Given the description of an element on the screen output the (x, y) to click on. 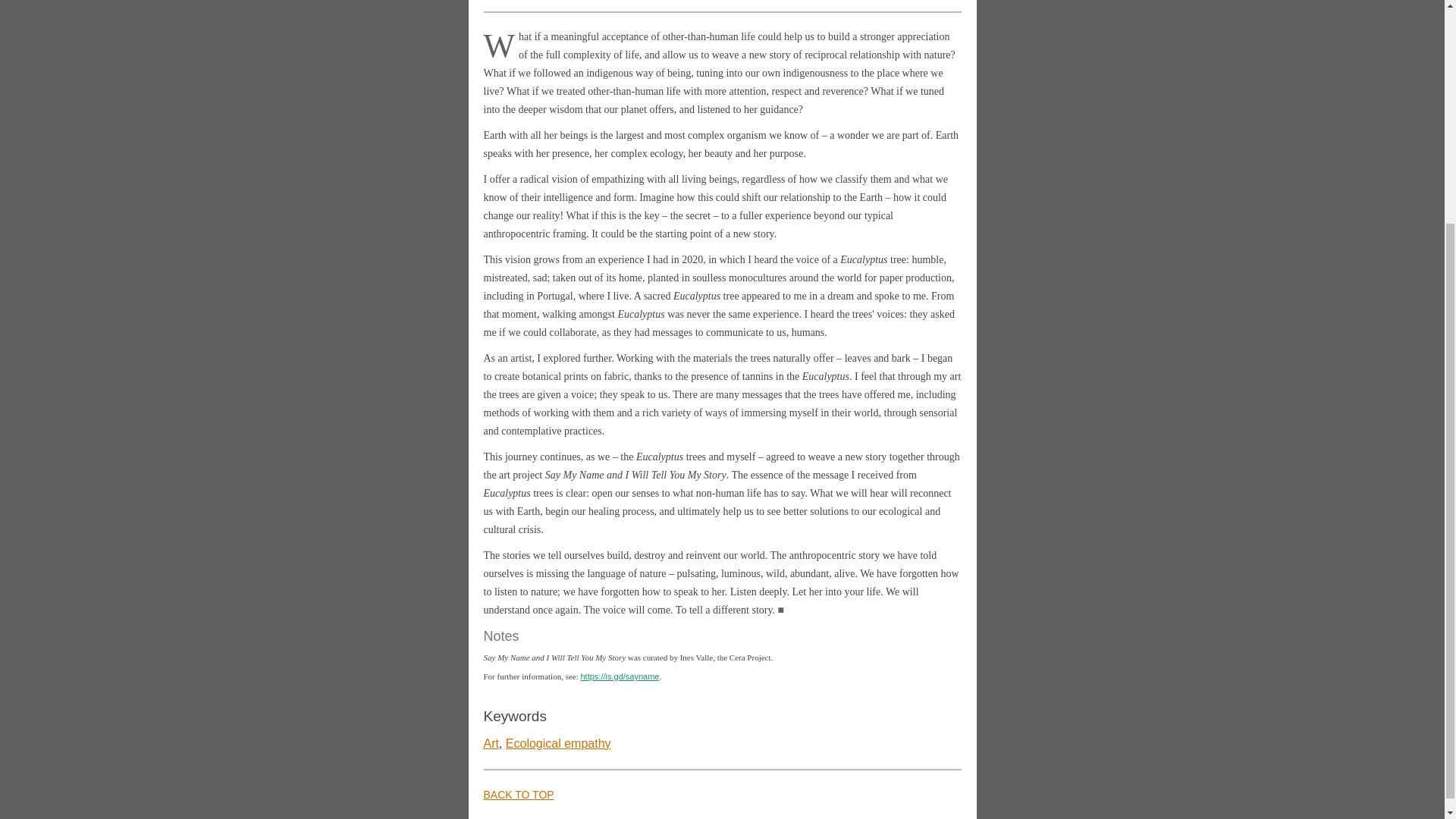
Ecological empathy (558, 743)
Art (491, 743)
BACK TO TOP (518, 794)
